Given the description of an element on the screen output the (x, y) to click on. 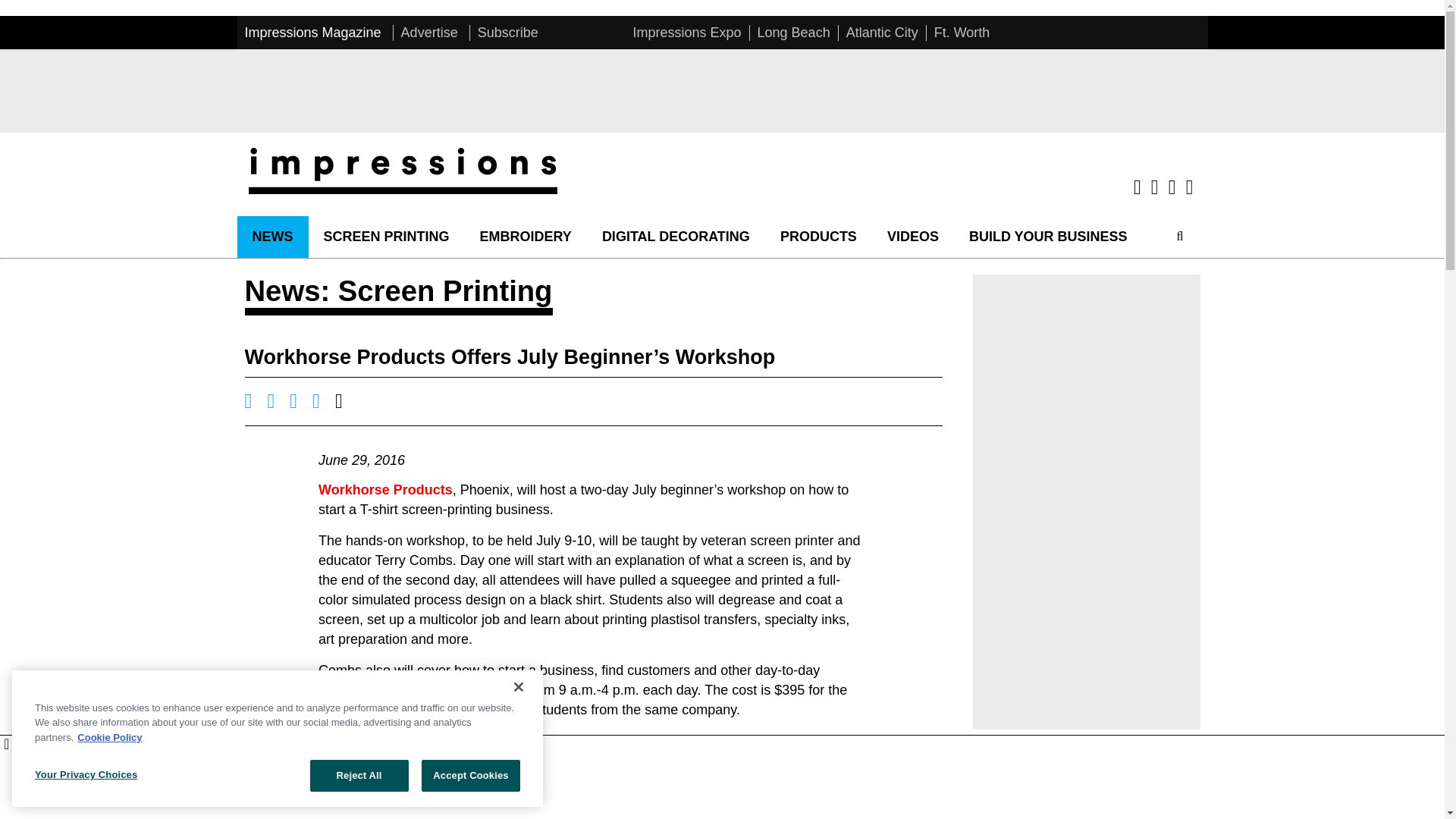
Atlantic City (881, 32)
DIGITAL DECORATING (675, 236)
Ft. Worth (962, 32)
Impressions Expo (686, 32)
Impressions Magazine (312, 32)
3rd party ad content (721, 90)
3rd party ad content (721, 776)
PRODUCTS (818, 236)
EMBROIDERY (525, 236)
Subscribe (507, 32)
Advertise (429, 32)
Long Beach (793, 32)
NEWS (271, 236)
SCREEN PRINTING (385, 236)
